Given the description of an element on the screen output the (x, y) to click on. 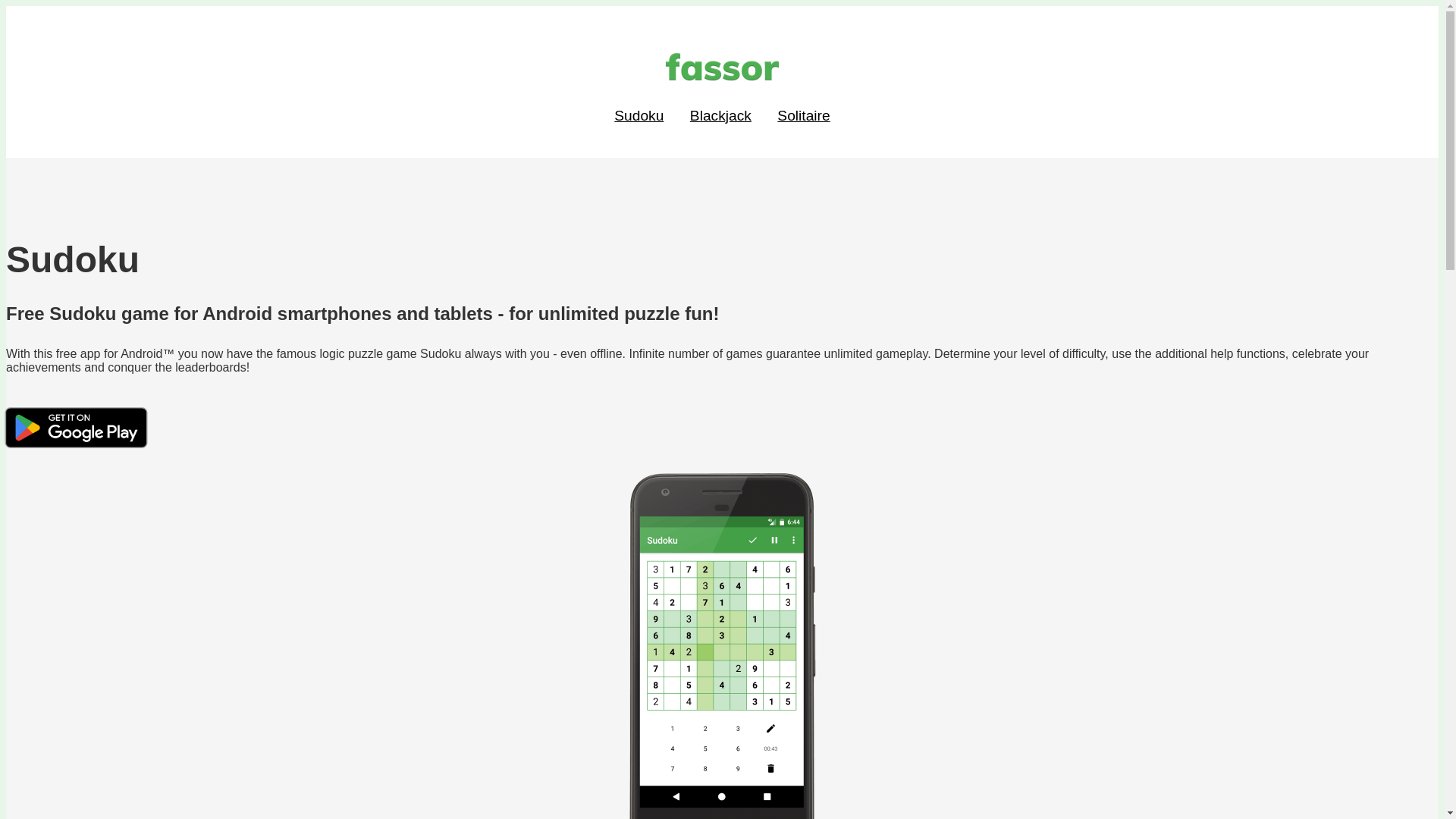
Blackjack (720, 115)
Solitaire (803, 115)
Sudoku (638, 115)
